Given the description of an element on the screen output the (x, y) to click on. 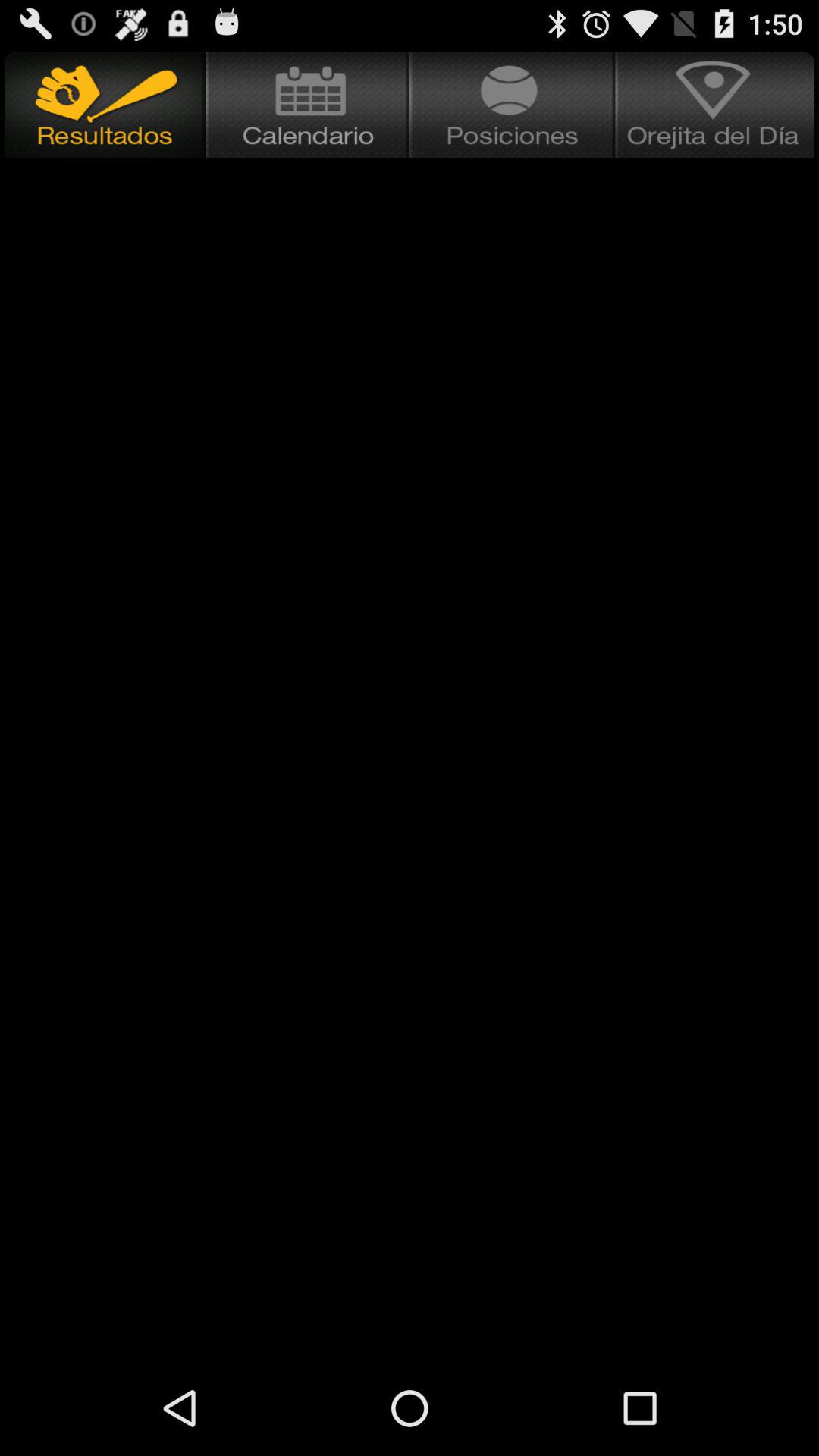
to check positions (512, 104)
